Given the description of an element on the screen output the (x, y) to click on. 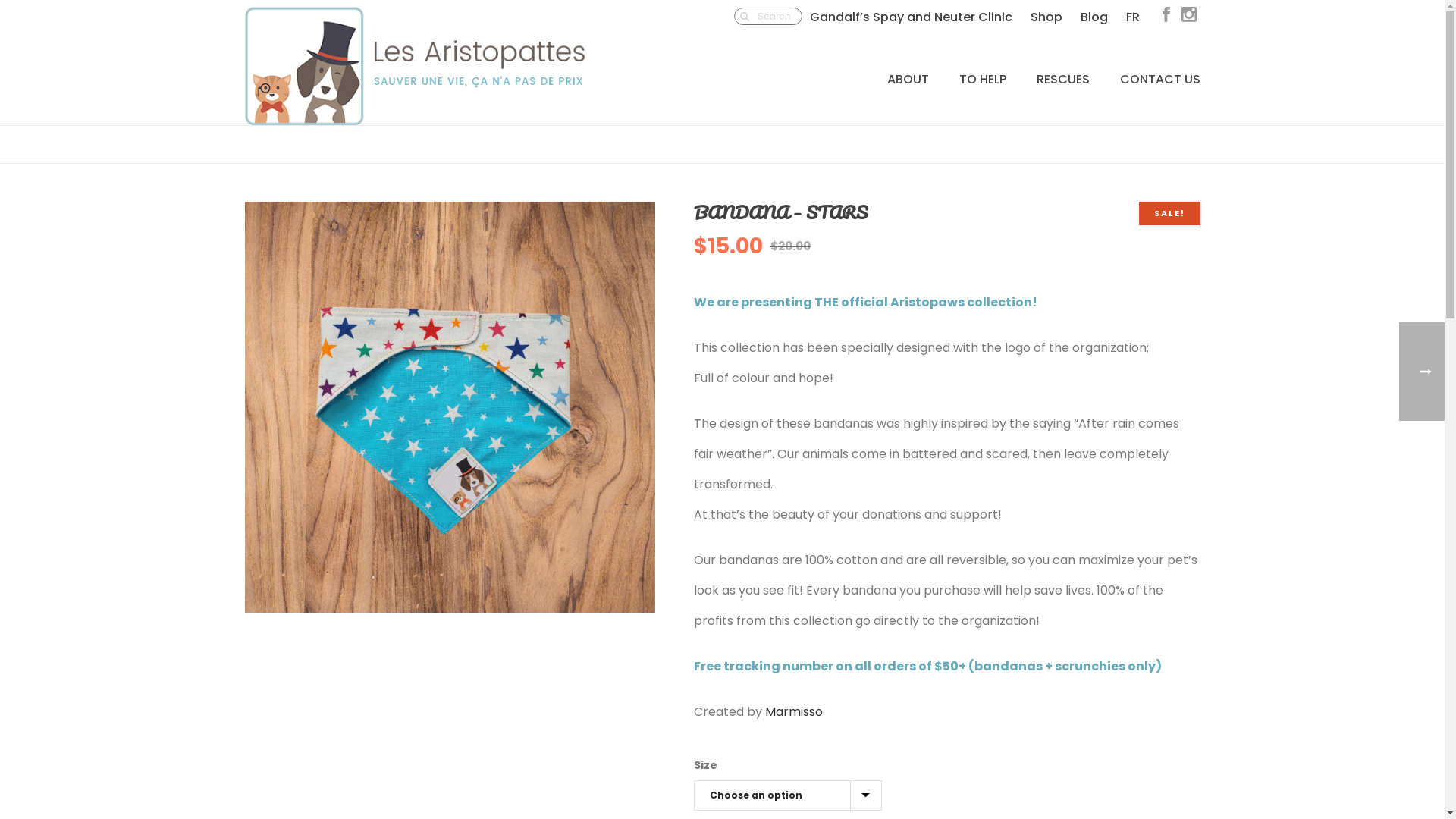
ACCUEIL Element type: text (1038, 148)
CONTACT US Element type: text (1159, 77)
Shop Element type: text (1045, 17)
SHOP Element type: text (1080, 148)
ABOUT Element type: text (908, 77)
Marmisso Element type: text (793, 711)
TO HELP Element type: text (981, 77)
Blog Element type: text (1093, 17)
FR Element type: text (1131, 17)
foulard aristopattes 1 Element type: hover (449, 406)
RESCUES Element type: text (1062, 77)
